Given the description of an element on the screen output the (x, y) to click on. 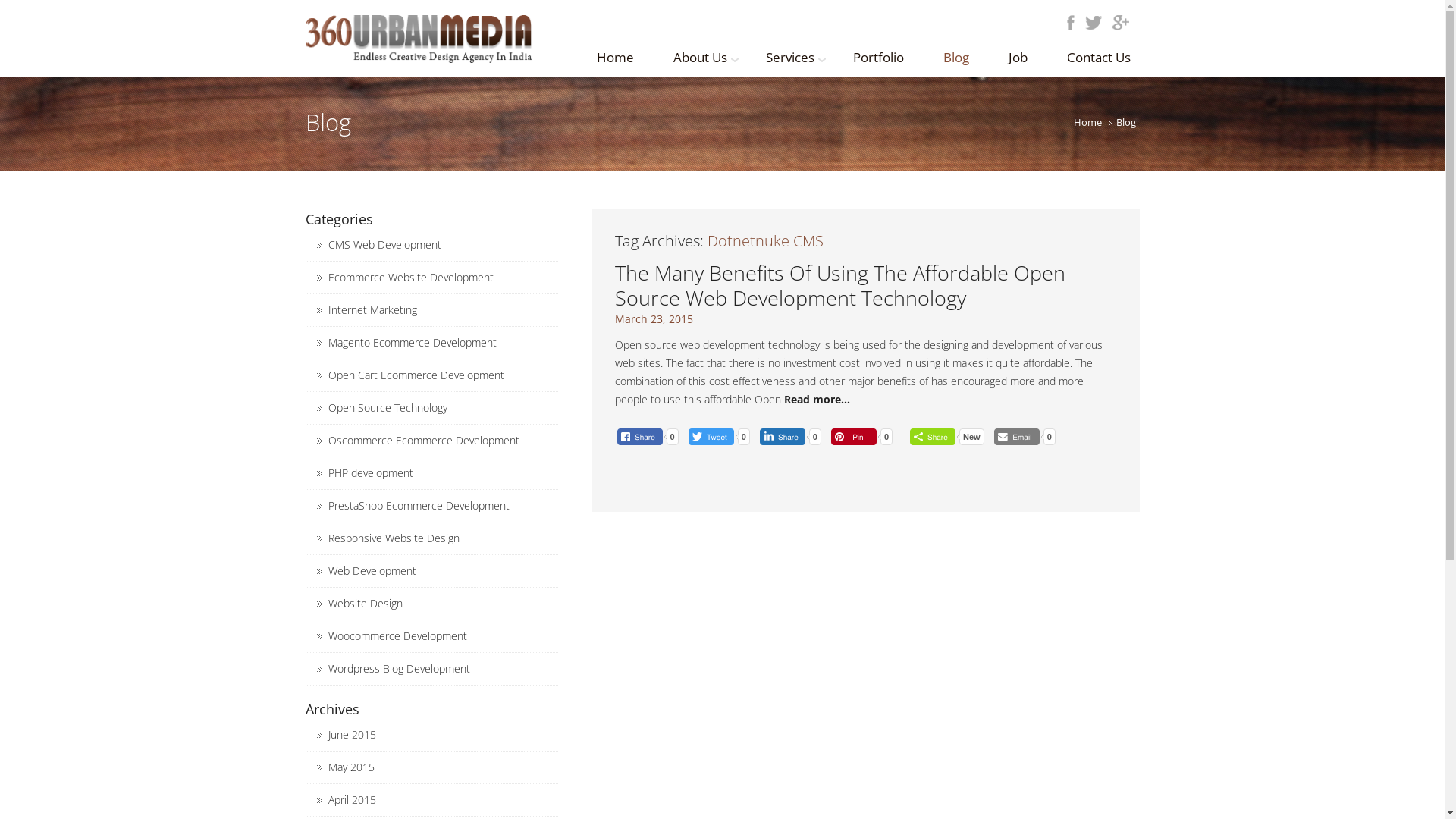
Twitter Element type: hover (1097, 23)
April 2015 Element type: text (351, 799)
Woocommerce Development Element type: text (396, 635)
Open Source Technology Element type: text (386, 407)
Oscommerce Ecommerce Development Element type: text (422, 440)
Internet Marketing Element type: text (371, 309)
Home Element type: text (614, 53)
Contact Us Element type: text (1098, 53)
Facebook Element type: hover (1070, 23)
Open Cart Ecommerce Development Element type: text (415, 374)
PrestaShop Ecommerce Development Element type: text (417, 505)
May 2015 Element type: text (350, 766)
Services Element type: text (788, 53)
Magento Ecommerce Development Element type: text (411, 342)
Home Element type: text (1087, 121)
Google+ Element type: hover (1125, 23)
Website Design Element type: text (364, 603)
Web Development Element type: text (371, 570)
Ecommerce Website Development Element type: text (409, 276)
Responsive Website Design Element type: text (392, 537)
Wordpress Blog Development Element type: text (398, 668)
Blog Element type: text (955, 53)
About Us Element type: text (698, 53)
June 2015 Element type: text (351, 734)
PHP development Element type: text (369, 472)
Portfolio Element type: text (878, 53)
Job Element type: text (1016, 53)
CMS Web Development Element type: text (383, 244)
